Given the description of an element on the screen output the (x, y) to click on. 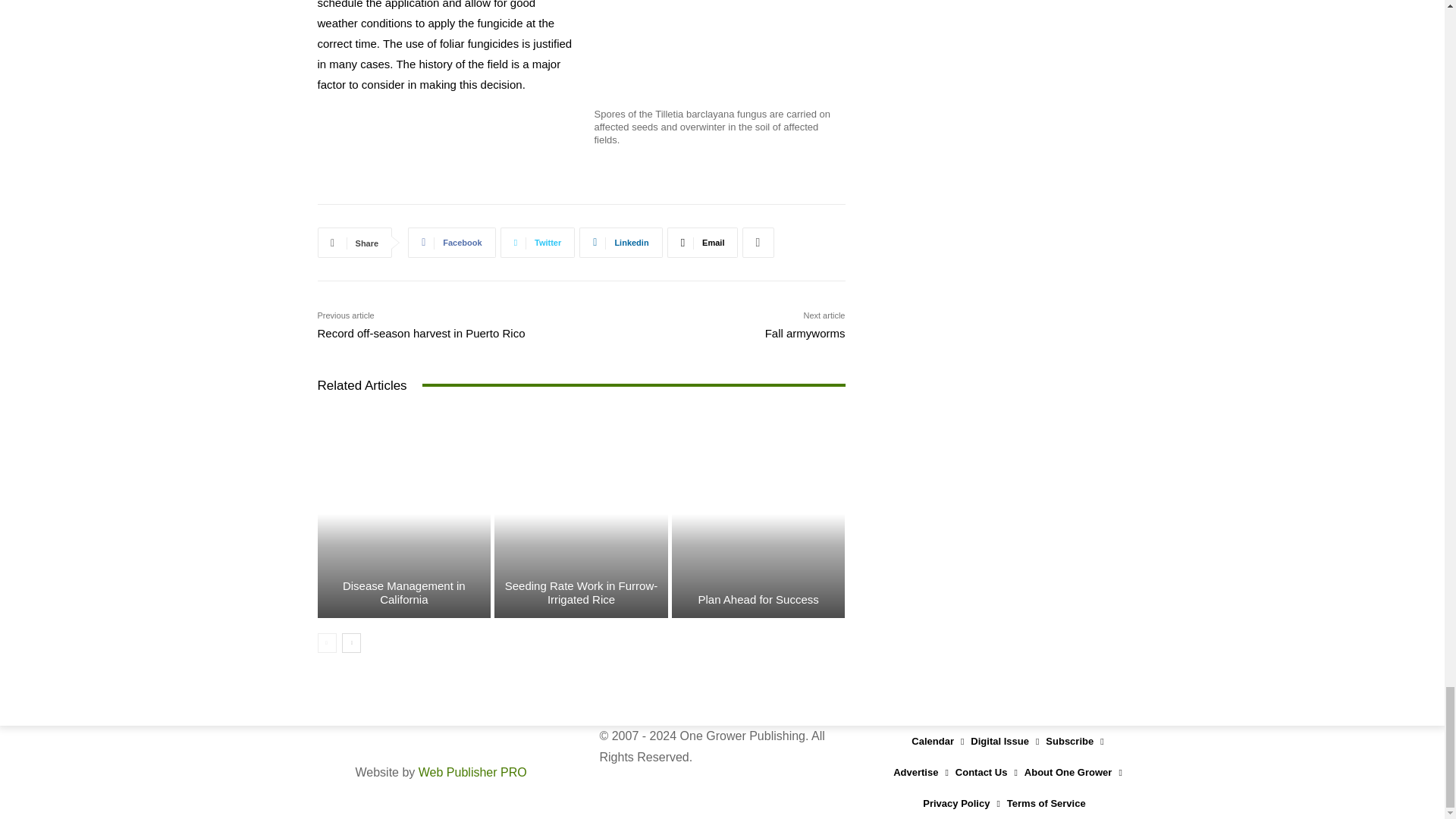
Twitter (537, 242)
Facebook (451, 242)
Linkedin (620, 242)
Email (702, 242)
